Given the description of an element on the screen output the (x, y) to click on. 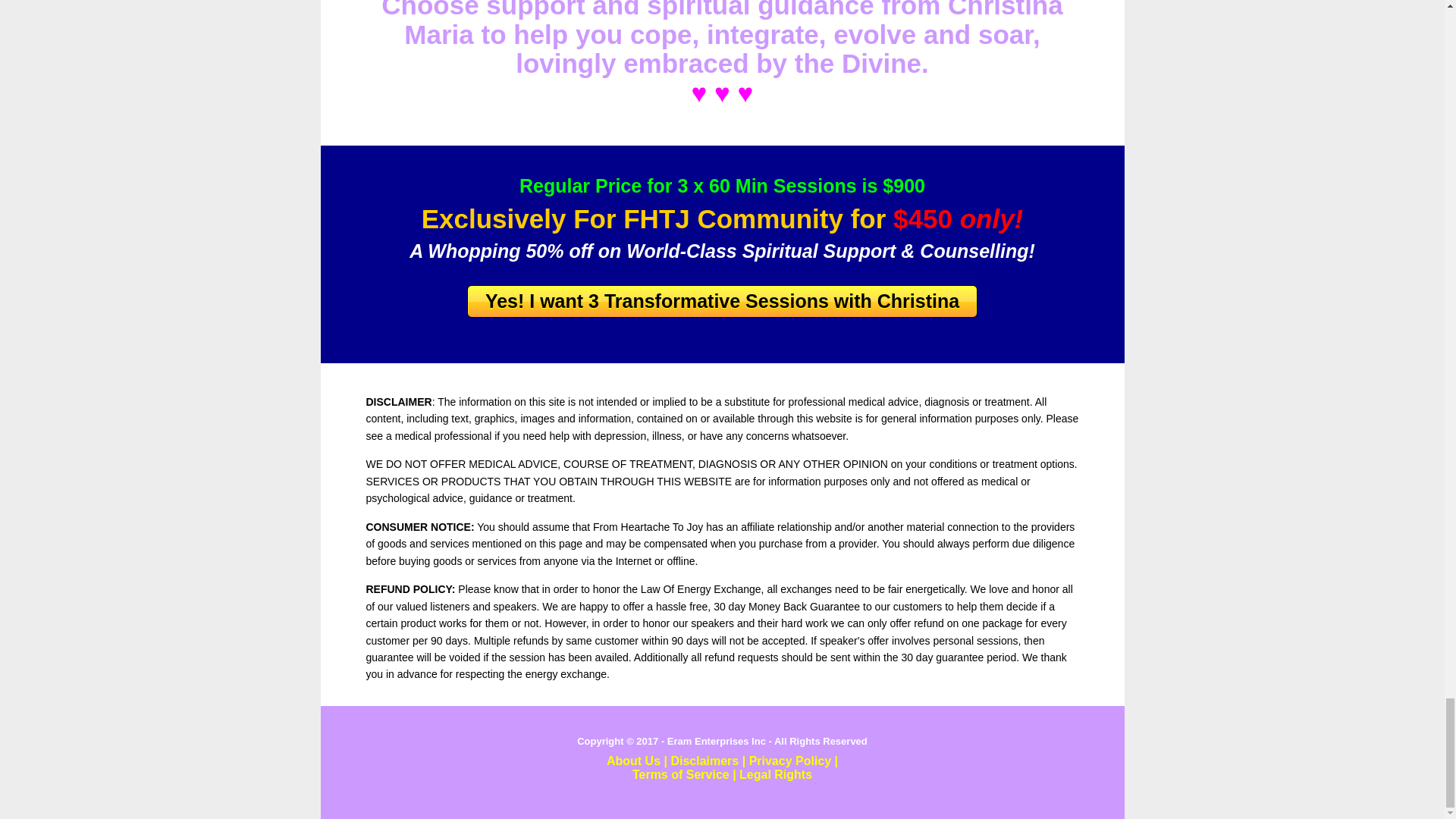
Terms of Service (680, 774)
About Us (634, 760)
Disclaimers (703, 760)
Yes! I want 3 Transformative Sessions with Christina (721, 301)
Privacy Policy (790, 760)
Legal Rights (775, 774)
